Given the description of an element on the screen output the (x, y) to click on. 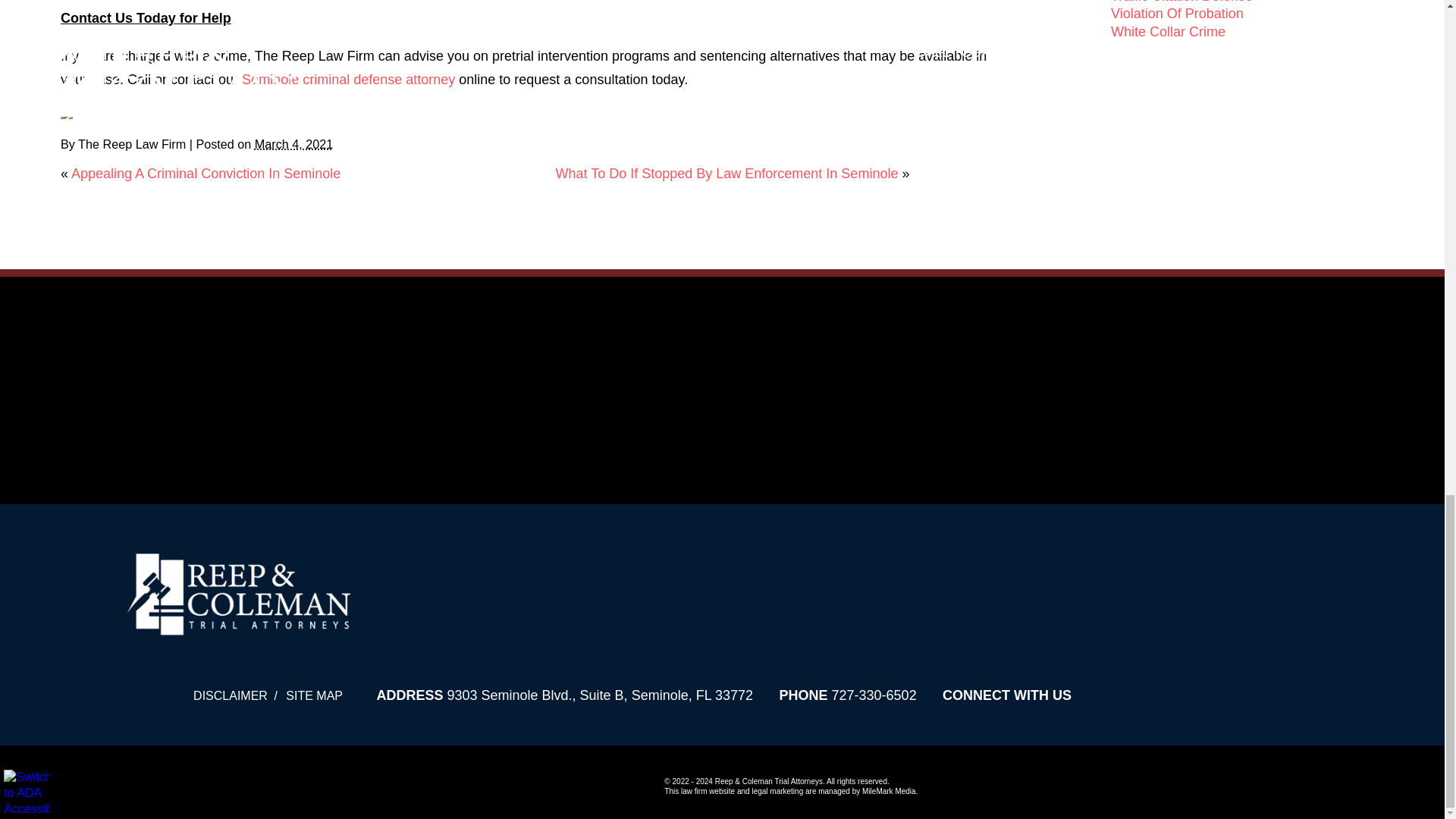
Twitter (76, 112)
LinkedIn (87, 112)
2021-03-04T03:00:00-0800 (293, 143)
Facebook (66, 112)
